Given the description of an element on the screen output the (x, y) to click on. 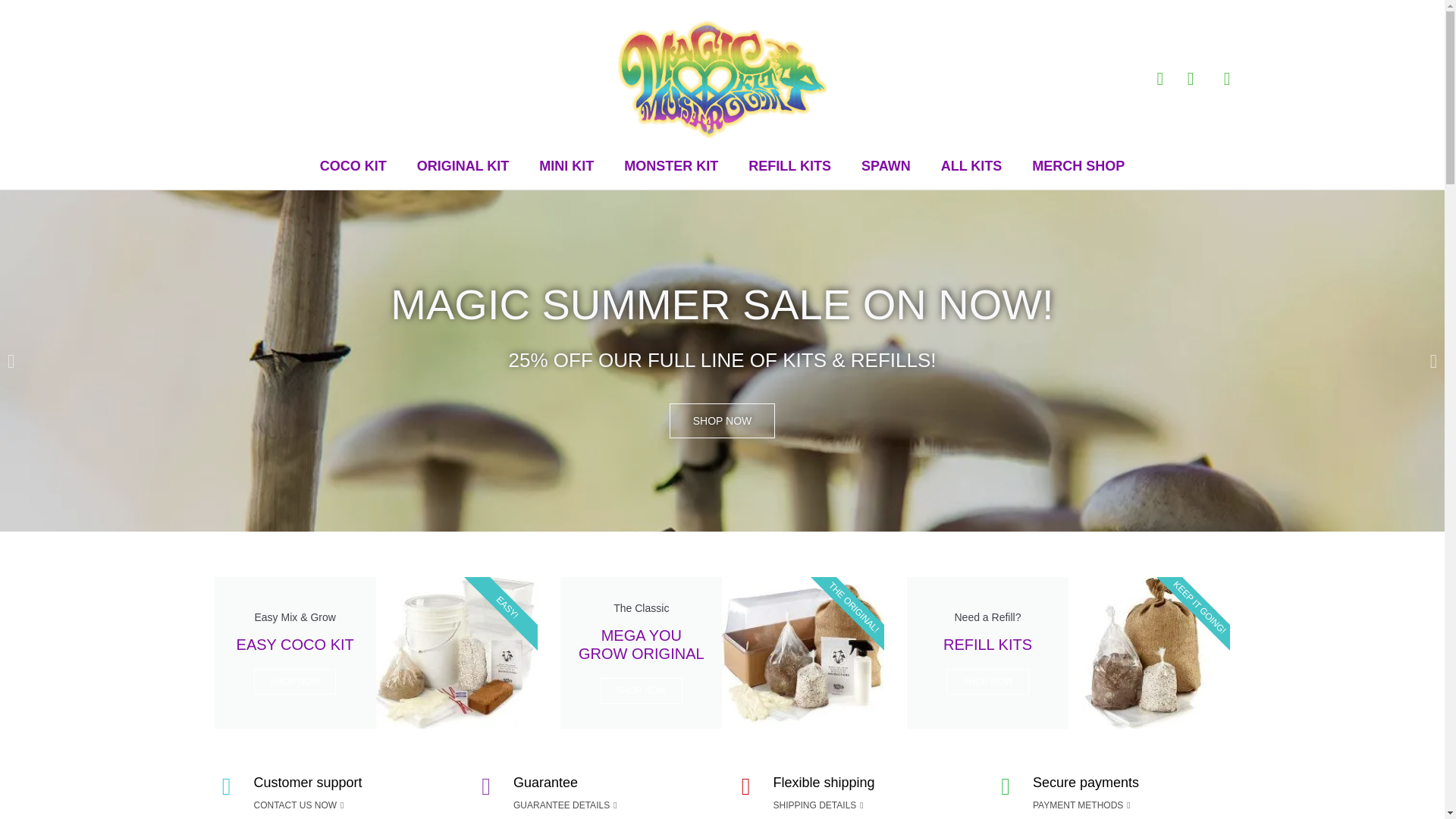
ALL KITS (971, 166)
SPAWN (886, 166)
PAYMENT METHODS (1081, 804)
COCO KIT (1068, 652)
SHIPPING DETAILS (353, 166)
SHOP NOW (818, 804)
CONTACT US NOW (722, 420)
MINI KIT (298, 804)
MONSTER KIT (566, 166)
